Given the description of an element on the screen output the (x, y) to click on. 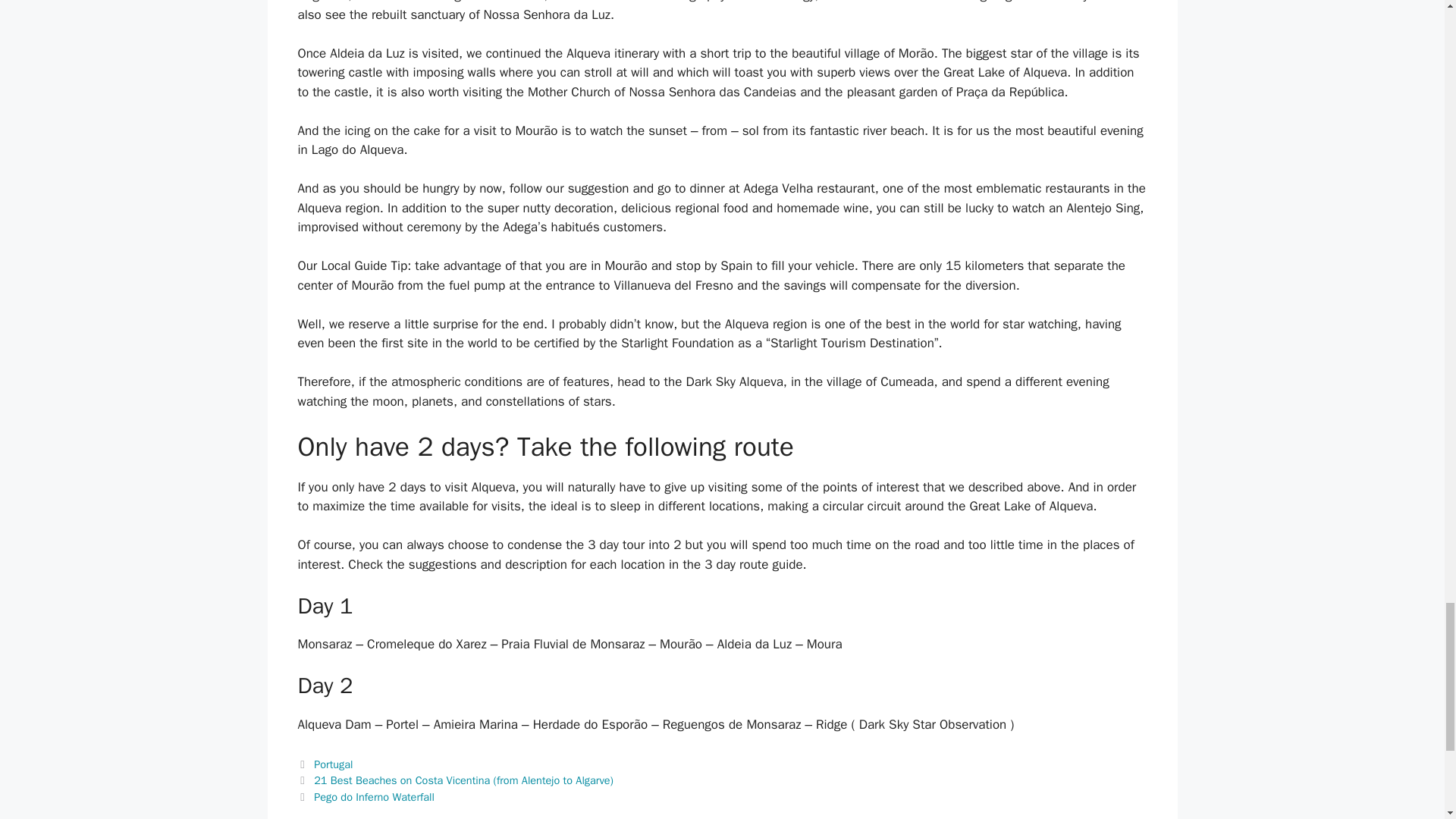
Pego do Inferno Waterfall (373, 796)
Portugal (333, 764)
